Given the description of an element on the screen output the (x, y) to click on. 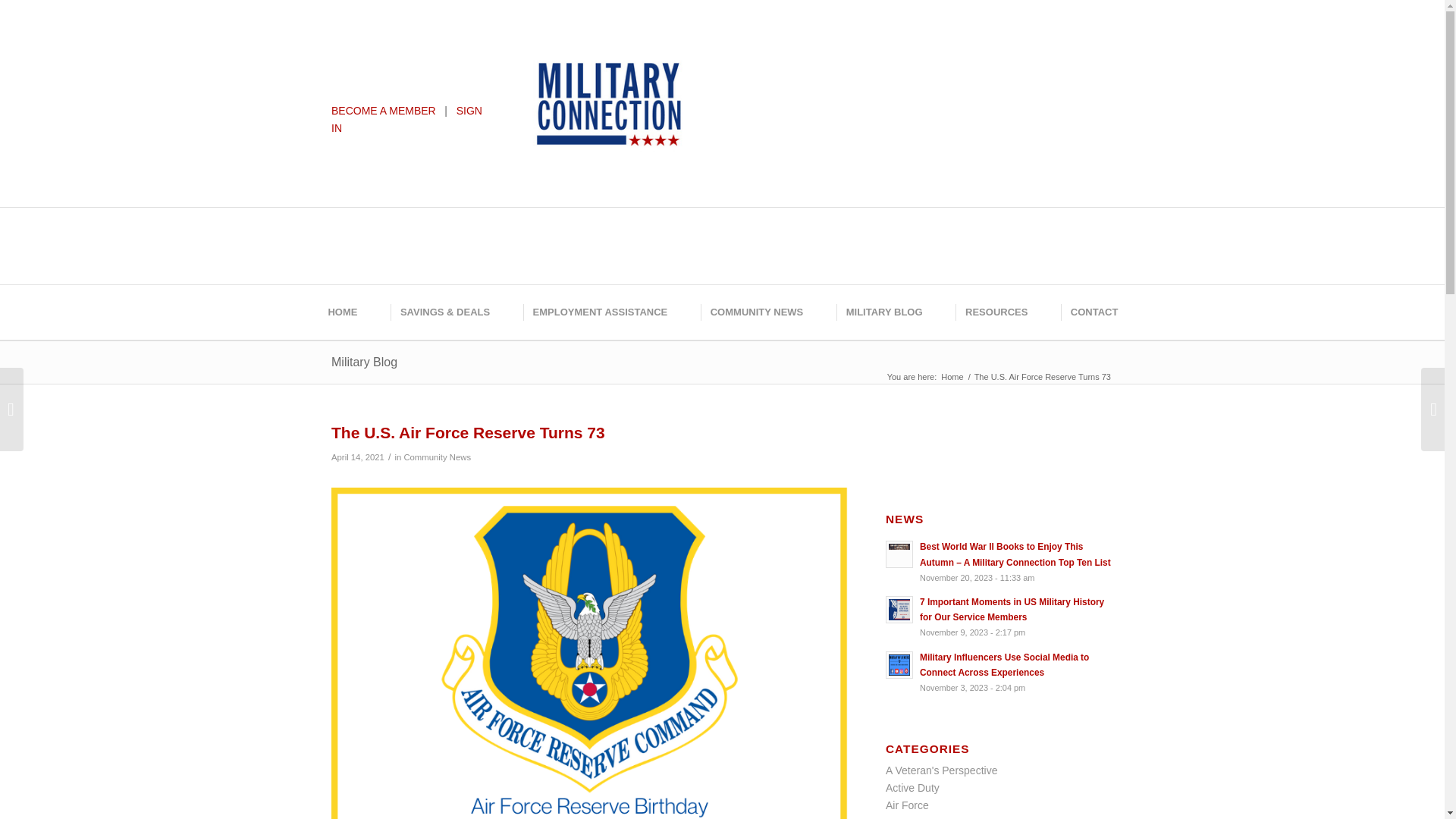
COMMUNITY NEWS (755, 311)
Pinterest (804, 48)
Permanent Link: Military Blog (364, 361)
Air Force (906, 805)
Home (952, 377)
A Veteran's Perspective (941, 770)
HOME (341, 311)
RESOURCES (995, 311)
